Given the description of an element on the screen output the (x, y) to click on. 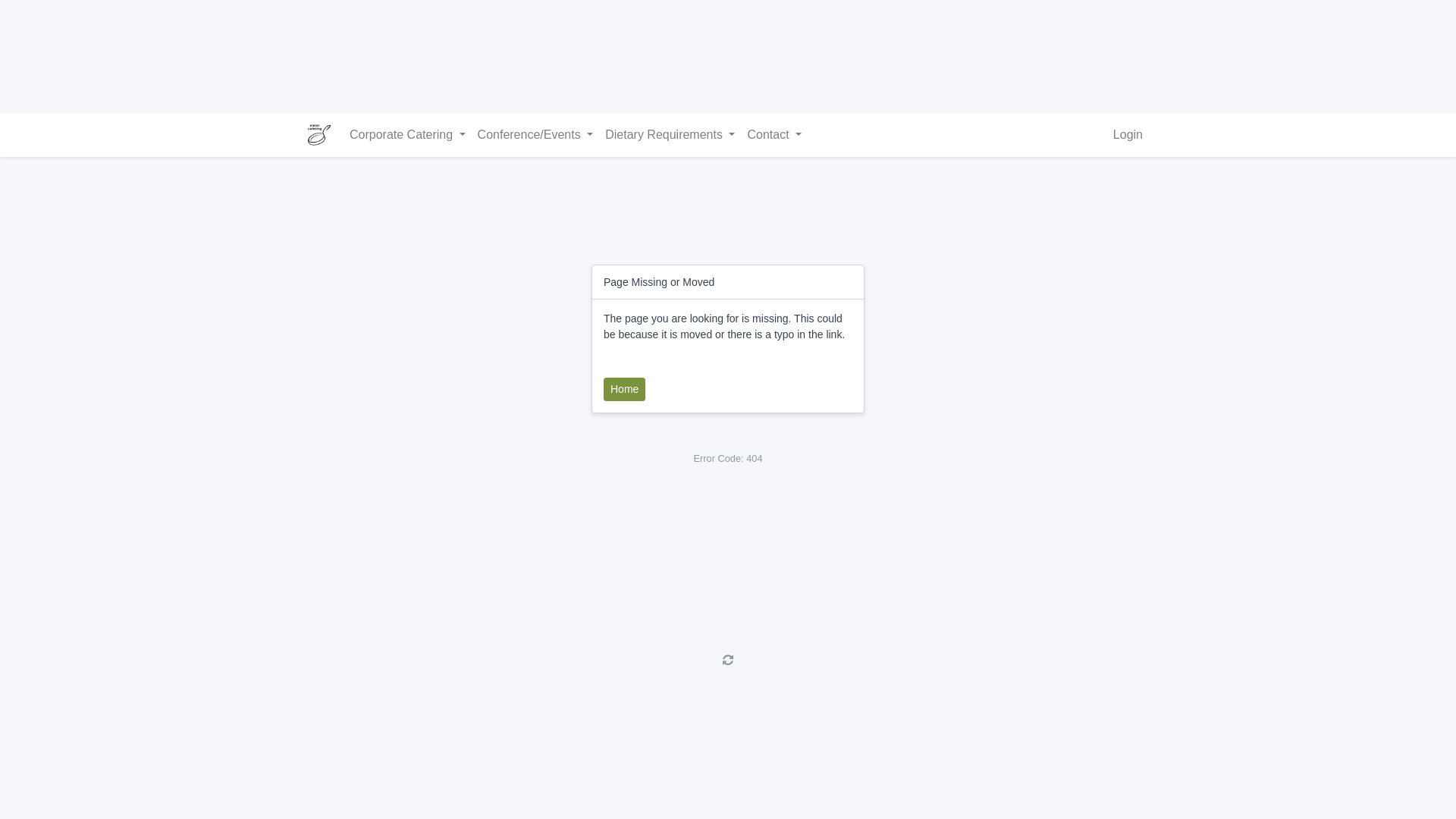
reload page and renew cache Element type: hover (727, 659)
Corporate Catering Element type: text (407, 134)
Home Element type: text (624, 389)
Dietary Requirements Element type: text (669, 134)
Login Element type: text (1127, 134)
Conference/Events Element type: text (535, 134)
Contact Element type: text (773, 134)
